Given the description of an element on the screen output the (x, y) to click on. 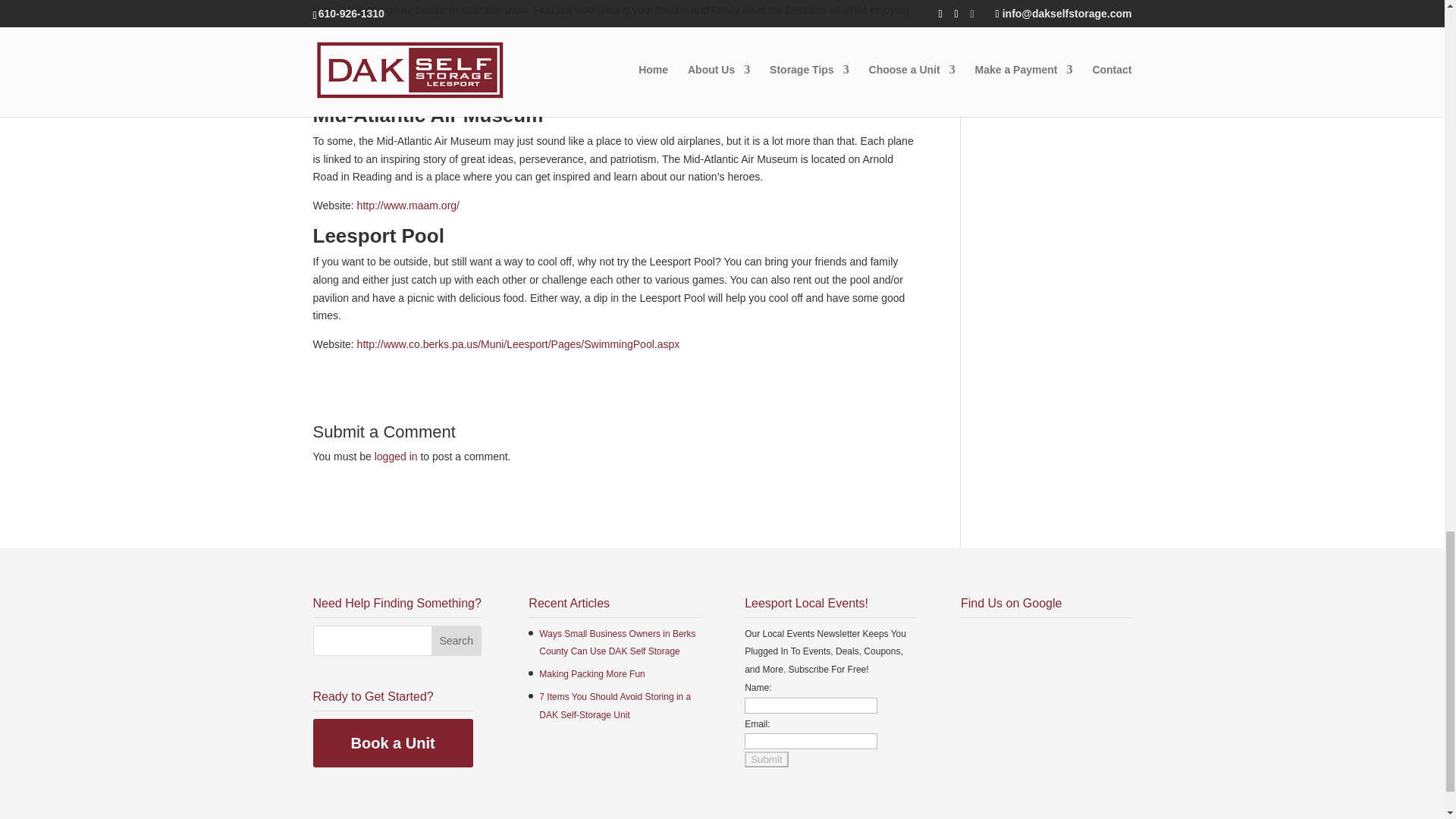
Email (810, 741)
Submit (765, 759)
Search (455, 640)
Name (810, 705)
